Given the description of an element on the screen output the (x, y) to click on. 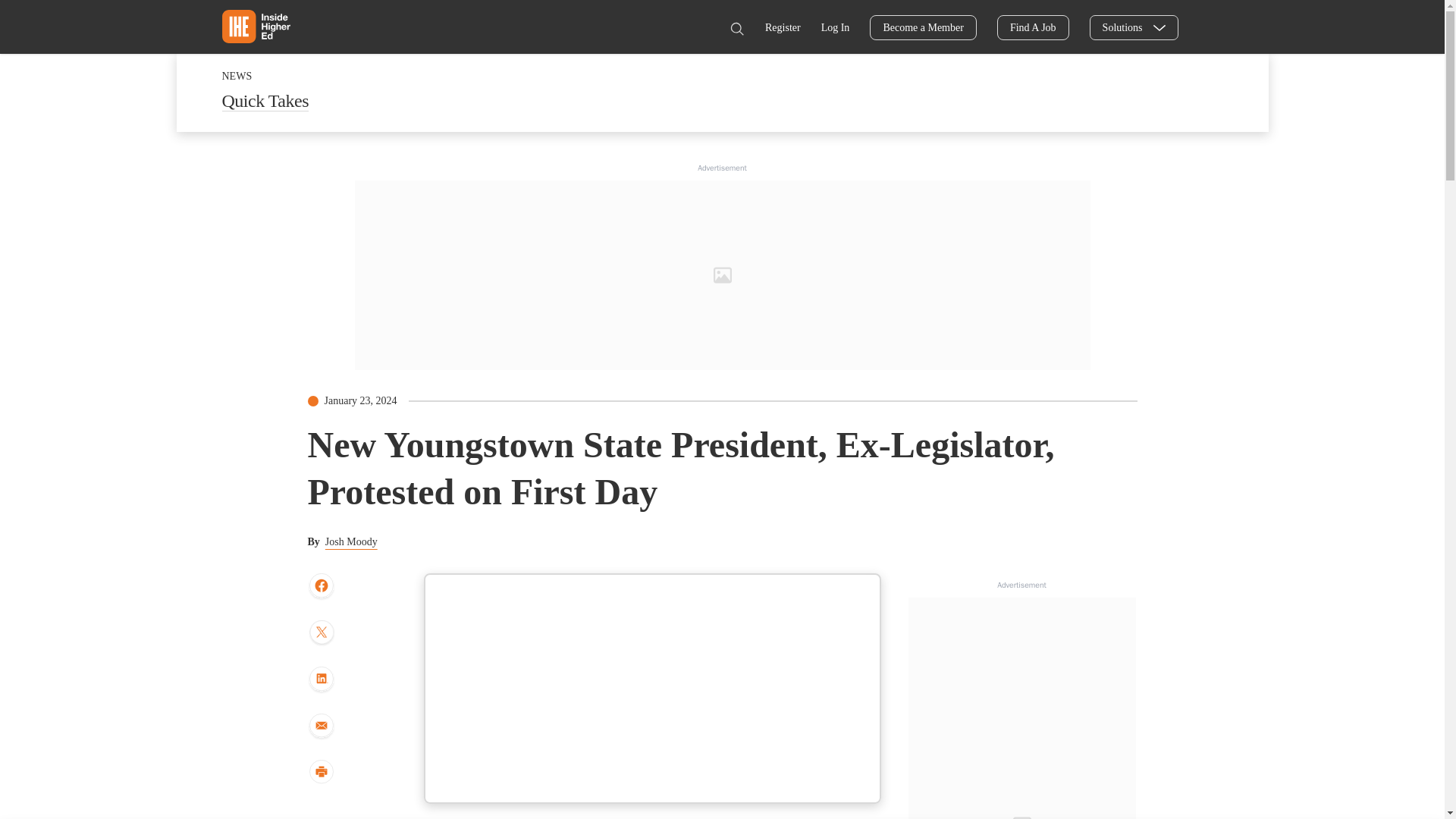
Search (736, 28)
Home (255, 26)
share by email (320, 726)
share to Linkedin (320, 679)
share to twitter (320, 633)
Find A Job (1032, 27)
Become a Member (922, 27)
share to facebook (320, 586)
